Given the description of an element on the screen output the (x, y) to click on. 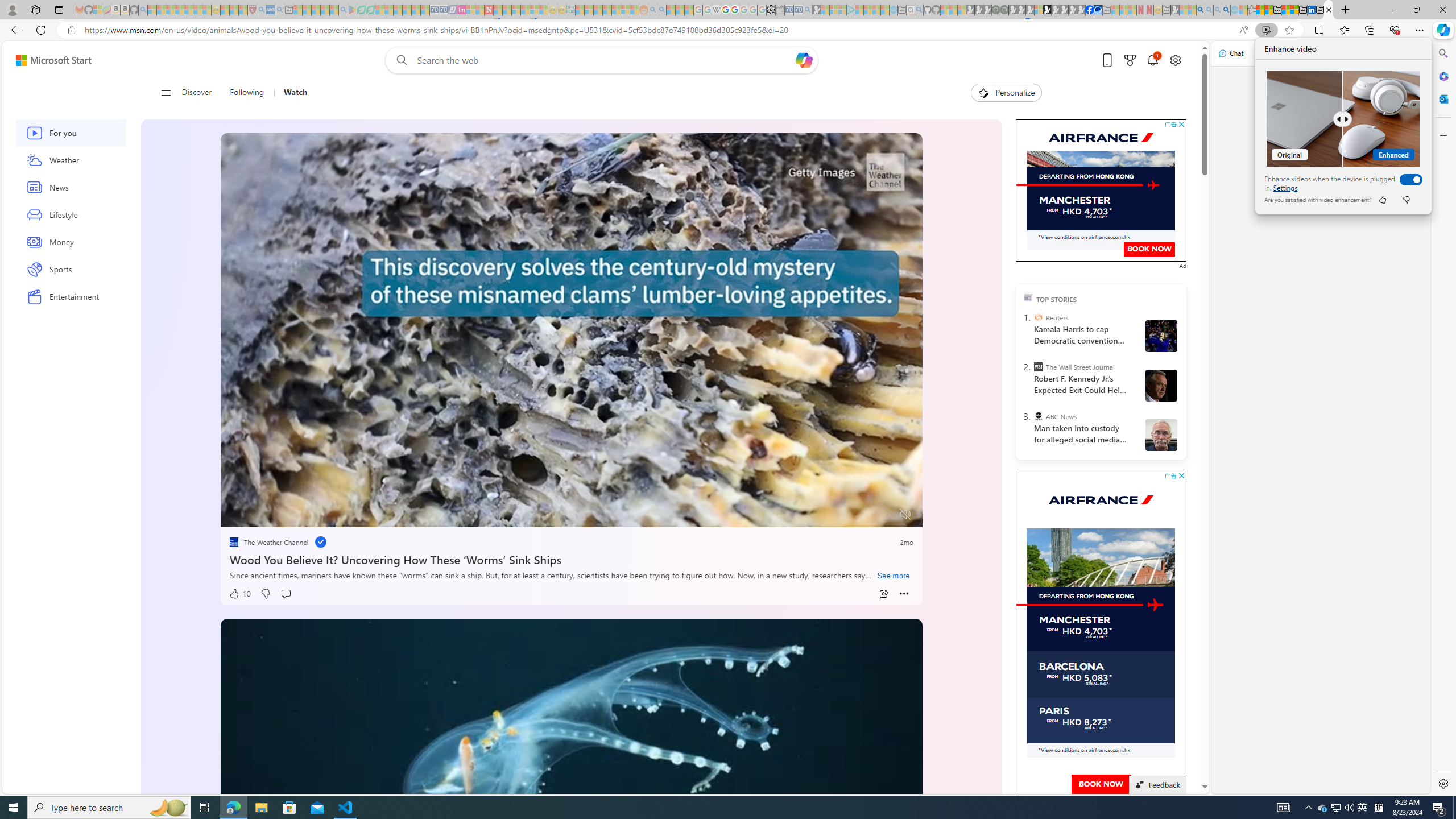
Notification Chevron (1308, 807)
Bing AI - Search (1200, 9)
Notifications (1152, 60)
Nordace | Facebook (1089, 9)
Watch (290, 92)
User Promoted Notification Area (1336, 807)
Pets - MSN - Sleeping (324, 9)
Kinda Frugal - MSN - Sleeping (616, 9)
